Given the description of an element on the screen output the (x, y) to click on. 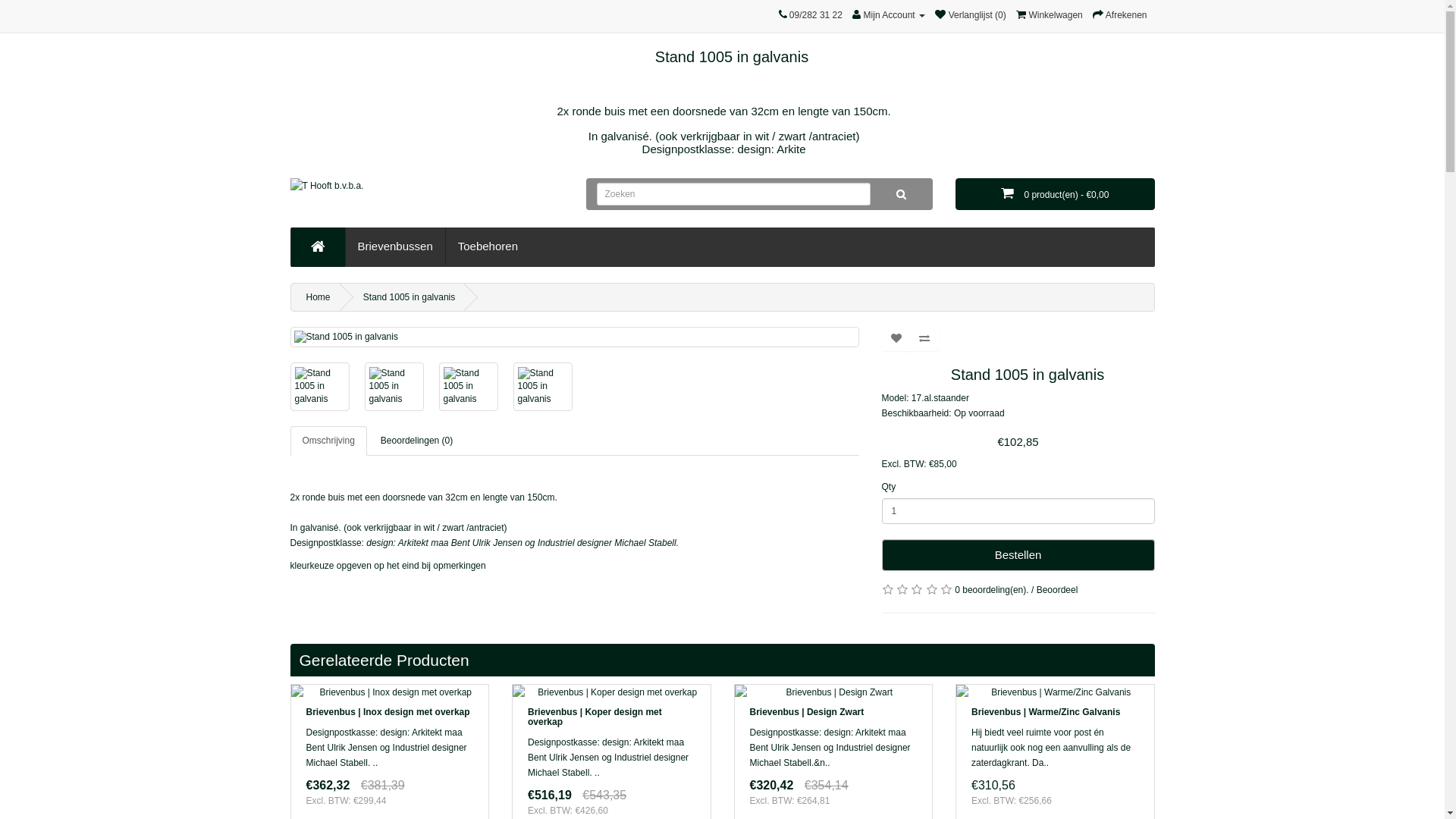
0 beoordeling(en). Element type: text (991, 589)
Stand 1005 in galvanis Element type: hover (393, 386)
Brievenbus | Warme/Zinc Galvanis Element type: text (1045, 711)
T Hooft b.v.b.a. Element type: hover (425, 194)
Afrekenen Element type: text (1119, 14)
Stand 1005 in galvanis Element type: hover (393, 386)
Stand 1005 in galvanis Element type: hover (542, 386)
Stand 1005 in galvanis Element type: text (409, 296)
Brievenbus | Warme/Zinc Galvanis Element type: hover (1055, 691)
Stand 1005 in galvanis Element type: hover (319, 386)
Brievenbus | Koper design met overkap Element type: text (594, 716)
Stand 1005 in galvanis Element type: hover (318, 386)
Mijn Account Element type: text (888, 14)
Winkelwagen Element type: text (1049, 14)
Stand 1005 in galvanis Element type: hover (573, 336)
Stand 1005 in galvanis Element type: hover (574, 336)
Brievenbus | Inox design met overkap Element type: hover (390, 691)
Stand 1005 in galvanis Element type: hover (467, 386)
Beoordeel Element type: text (1057, 589)
Verlanglijst (0) Element type: text (970, 14)
Brievenbussen Element type: text (395, 246)
Stand 1005 in galvanis Element type: hover (541, 386)
Stand 1005 in galvanis Element type: hover (467, 386)
Omschrijving Element type: text (327, 440)
Brievenbus | Koper design met overkap Element type: hover (611, 691)
Home Element type: text (318, 296)
Brievenbus | Design Zwart Element type: text (806, 711)
Beoordelingen (0) Element type: text (416, 440)
Bestellen Element type: text (1017, 555)
Toebehoren Element type: text (487, 246)
Brievenbus | Design Zwart  Element type: hover (832, 691)
Brievenbus | Inox design met overkap Element type: text (388, 711)
